Given the description of an element on the screen output the (x, y) to click on. 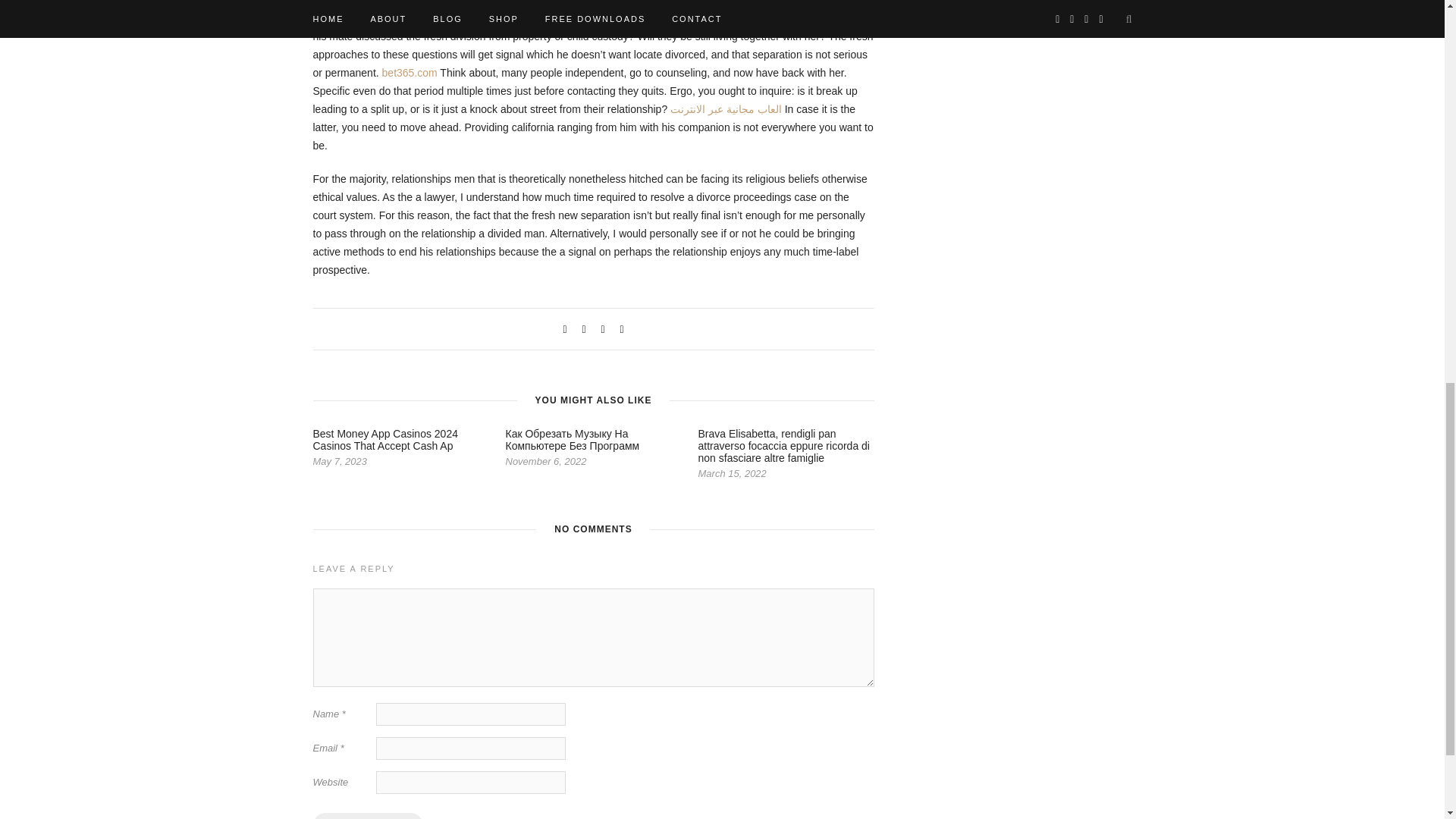
Post Comment (367, 816)
Post Comment (367, 816)
Best Money App Casinos 2024 Casinos That Accept Cash Ap (385, 439)
bet365.com (409, 72)
